Given the description of an element on the screen output the (x, y) to click on. 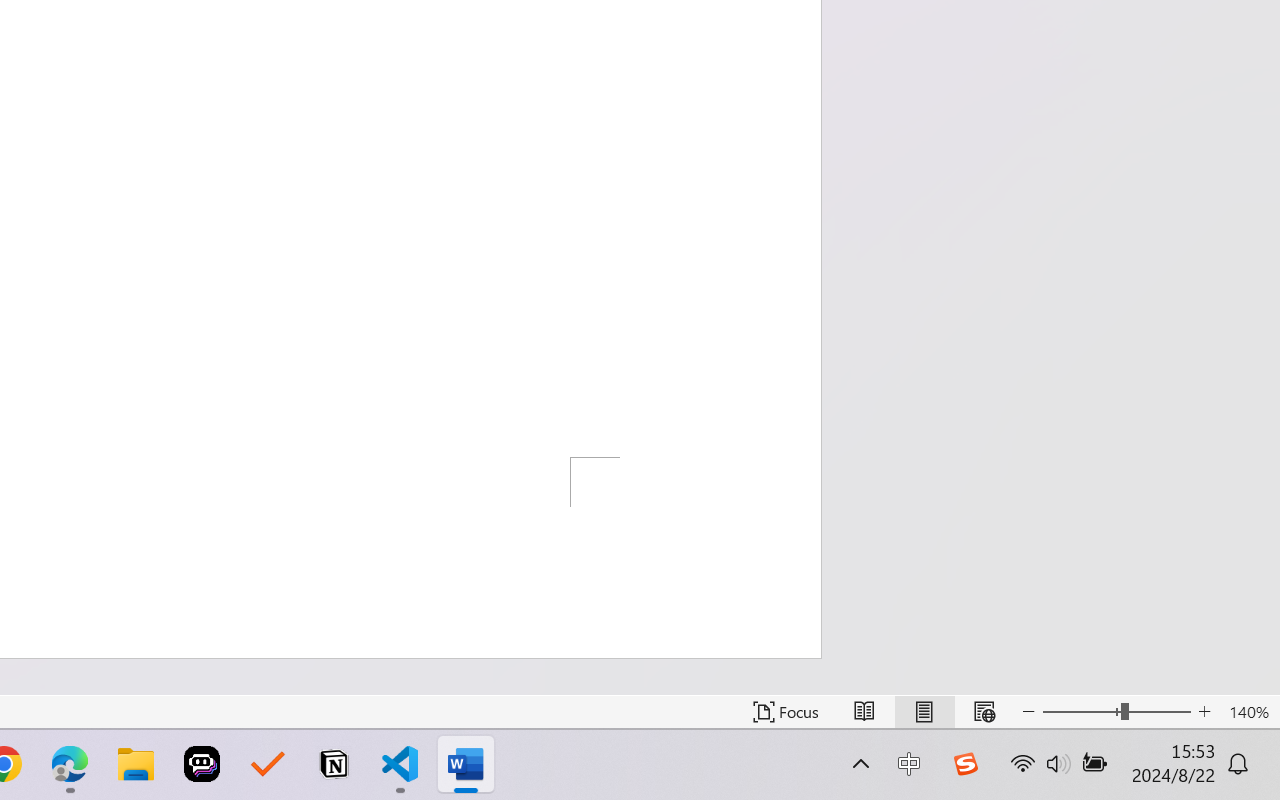
Zoom In (1204, 712)
Class: Image (965, 764)
Focus  (786, 712)
Read Mode (864, 712)
Zoom Out (1081, 712)
Print Layout (924, 712)
